Given the description of an element on the screen output the (x, y) to click on. 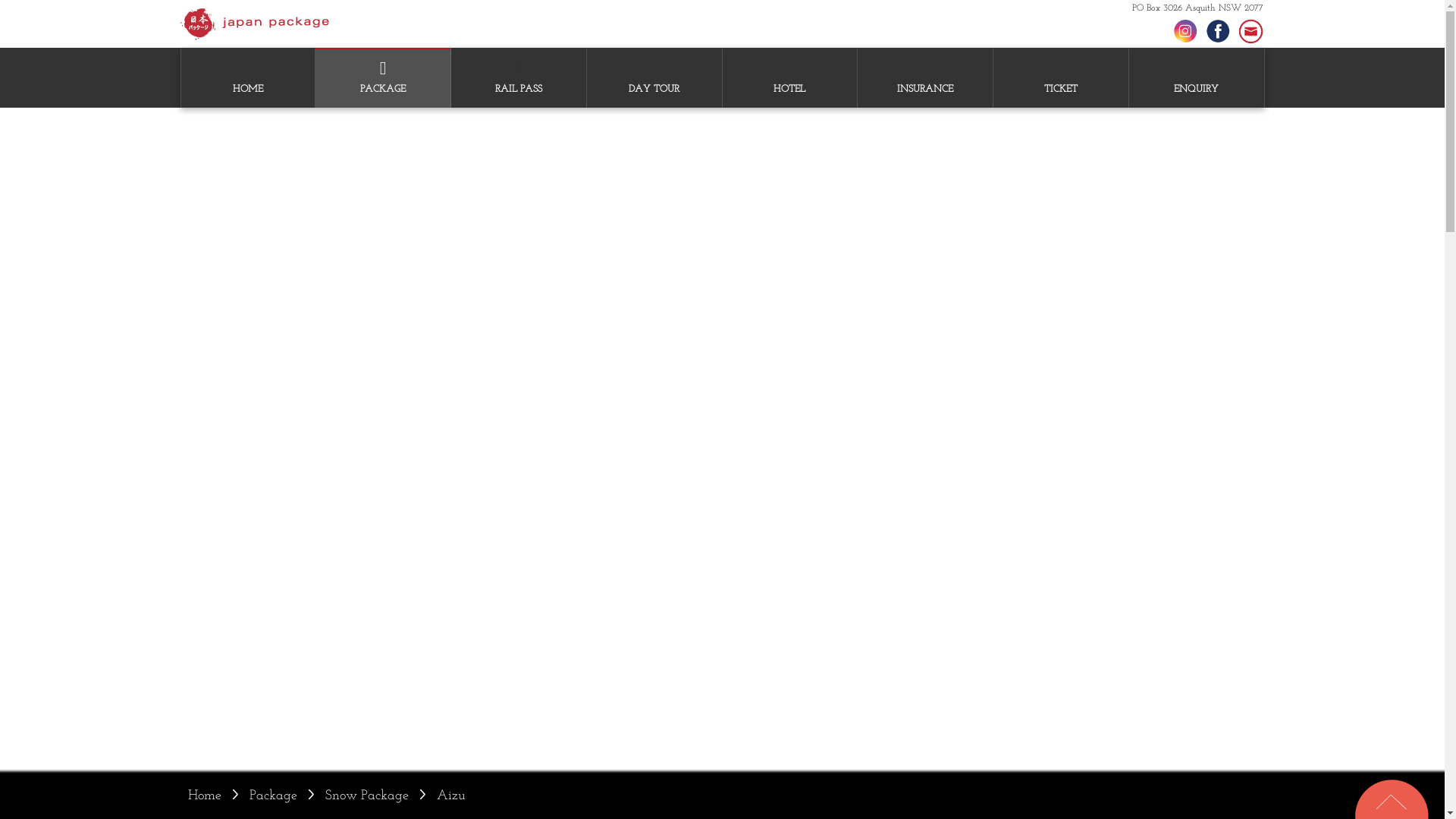
KYOTO TOURS Element type: text (653, 127)
IORI MACHIYA Element type: text (788, 127)
HOME Element type: text (247, 78)
Home Element type: text (204, 795)
Snow Package Element type: text (365, 795)
JR HOKKAIDO Element type: text (518, 127)
RAIL PASS Element type: text (518, 78)
TOKYO TOURS Element type: text (653, 127)
DAY TOUR Element type: text (653, 78)
TICKET Element type: text (1060, 78)
INSURANCE Element type: text (924, 78)
FULL ESCORTED Element type: text (382, 127)
SNOW PACKAGES Element type: text (382, 127)
JR EAST Element type: text (518, 127)
Package Element type: text (272, 795)
HOTEL Element type: text (788, 78)
ENQUIRY Element type: text (1196, 78)
PACKAGE Element type: text (382, 78)
